Given the description of an element on the screen output the (x, y) to click on. 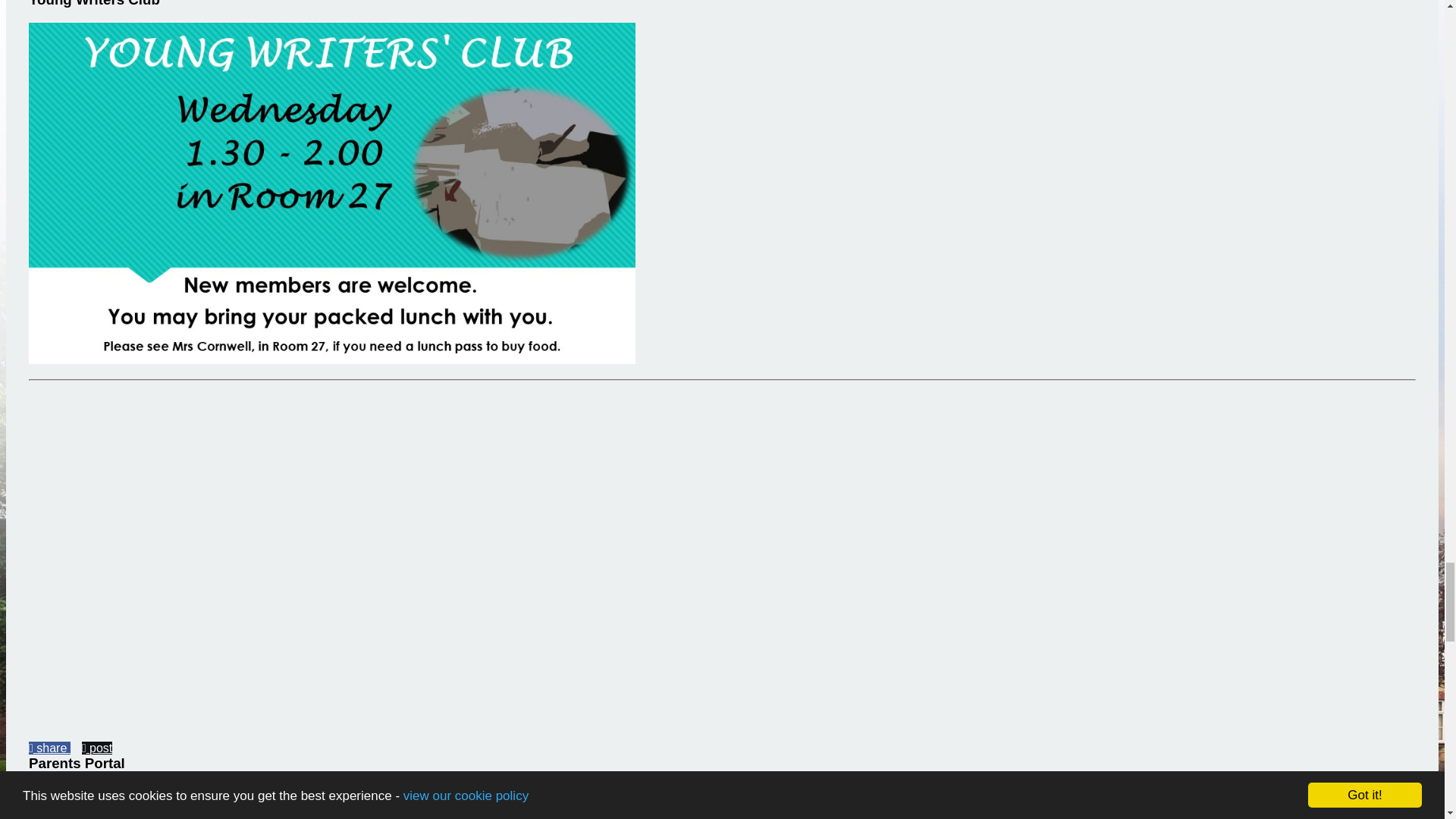
Post on X (97, 748)
Share on Facebook (49, 748)
